Given the description of an element on the screen output the (x, y) to click on. 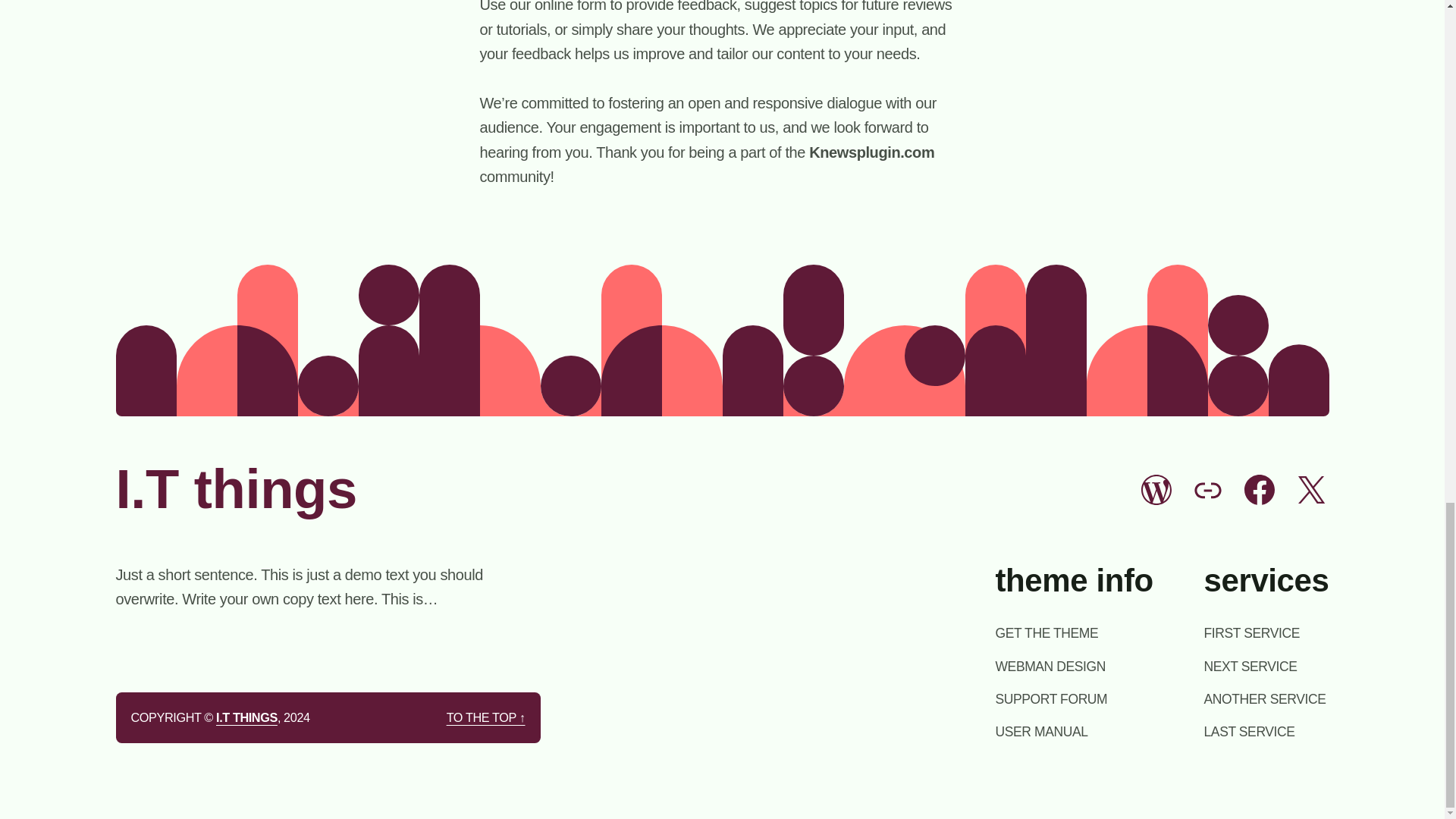
Facebook (1258, 489)
FIRST SERVICE (1252, 632)
Link (1207, 489)
X (1309, 489)
LAST SERVICE (1249, 731)
USER MANUAL (1040, 731)
SUPPORT FORUM (1050, 699)
WEBMAN DESIGN (1049, 666)
NEXT SERVICE (1250, 666)
I.T things (235, 488)
